Given the description of an element on the screen output the (x, y) to click on. 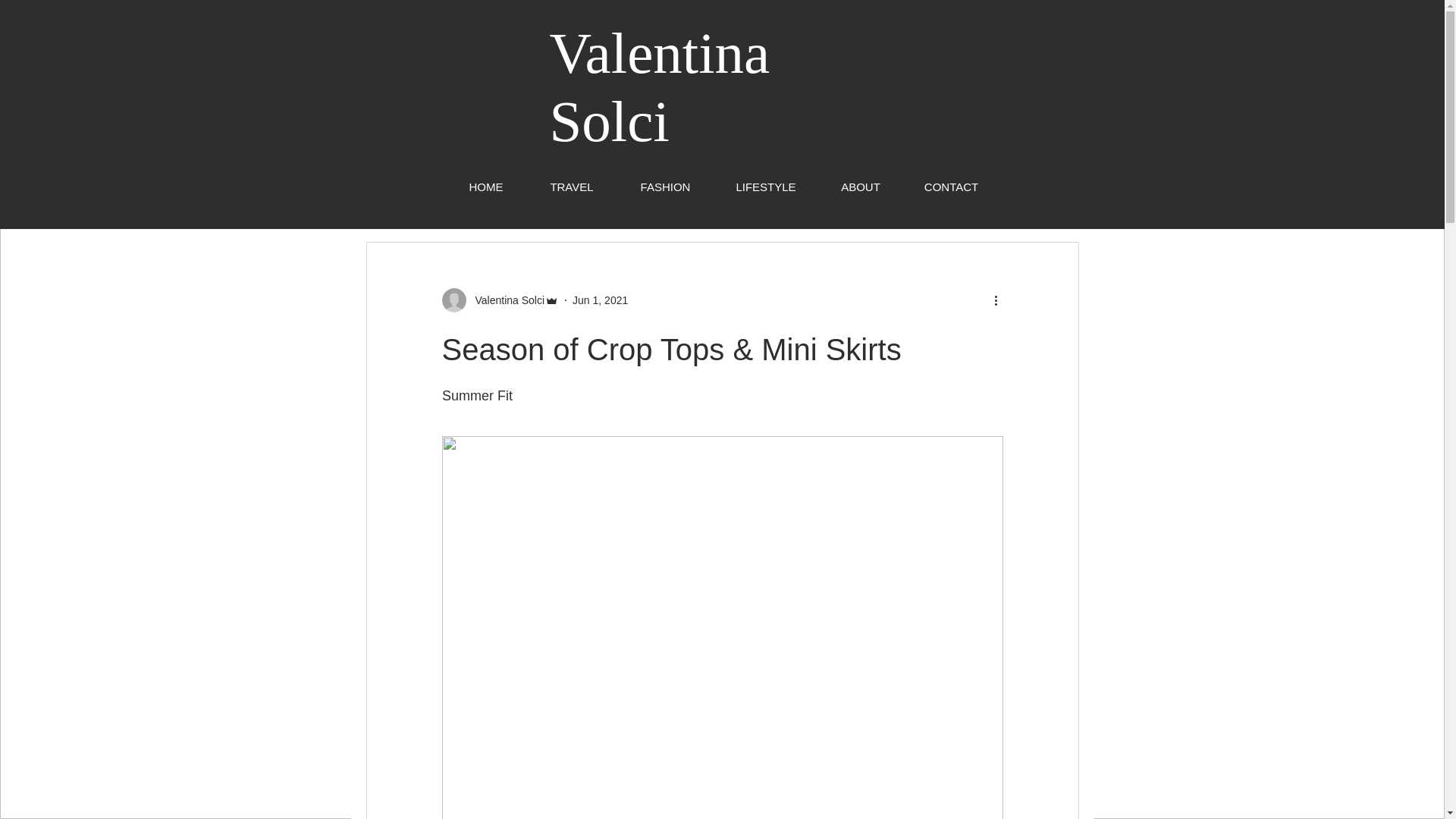
ABOUT (859, 187)
Valentina Solci (659, 86)
HOME (486, 187)
Travel (537, 196)
LIFESTYLE (766, 187)
Jun 1, 2021 (599, 300)
CONTACT (951, 187)
New York City (697, 196)
Fashion (606, 196)
Psychology (797, 196)
